Given the description of an element on the screen output the (x, y) to click on. 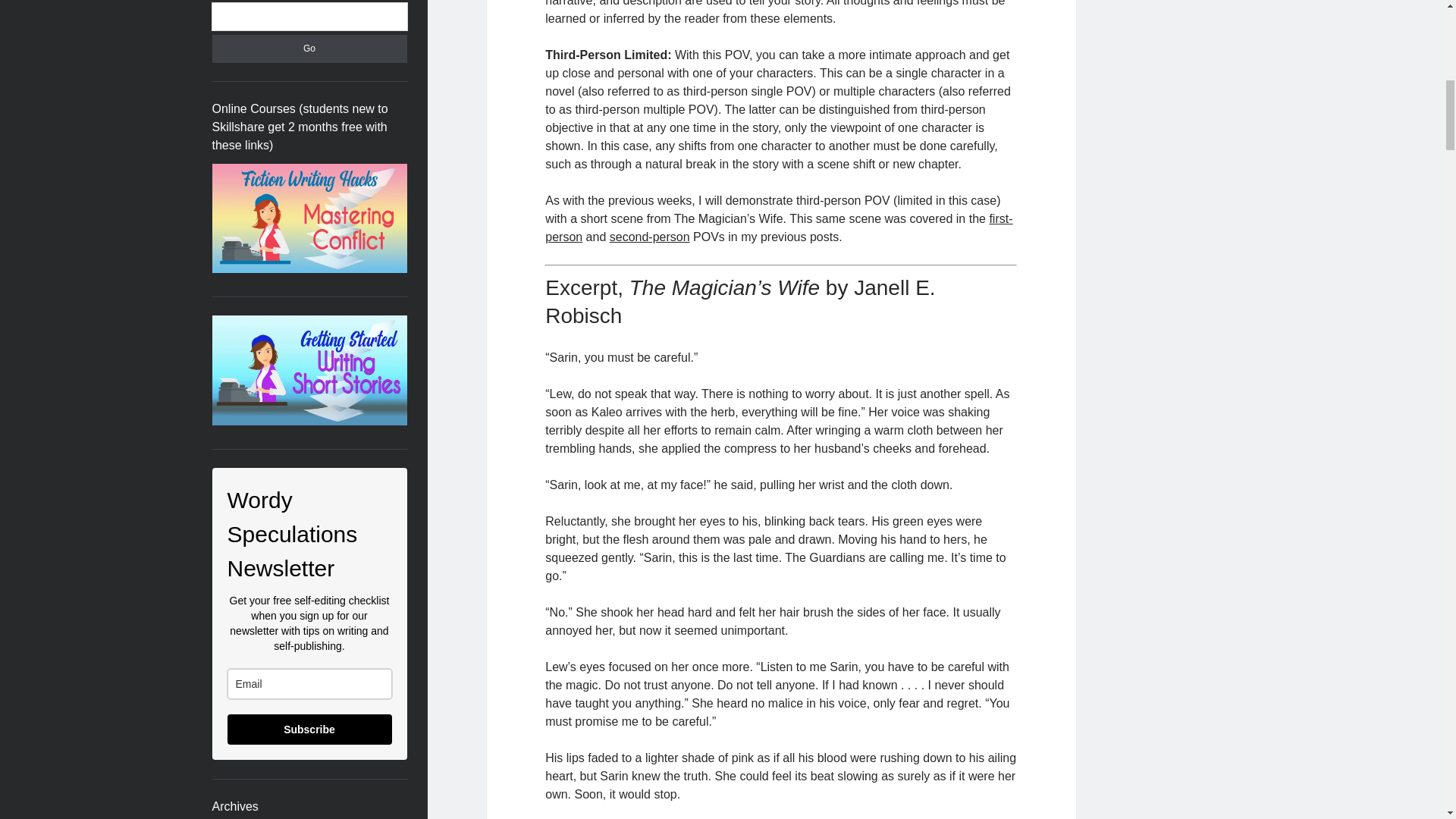
Go (309, 49)
Search for: (309, 16)
Subscribe (309, 729)
Go (309, 49)
Go (309, 49)
